Given the description of an element on the screen output the (x, y) to click on. 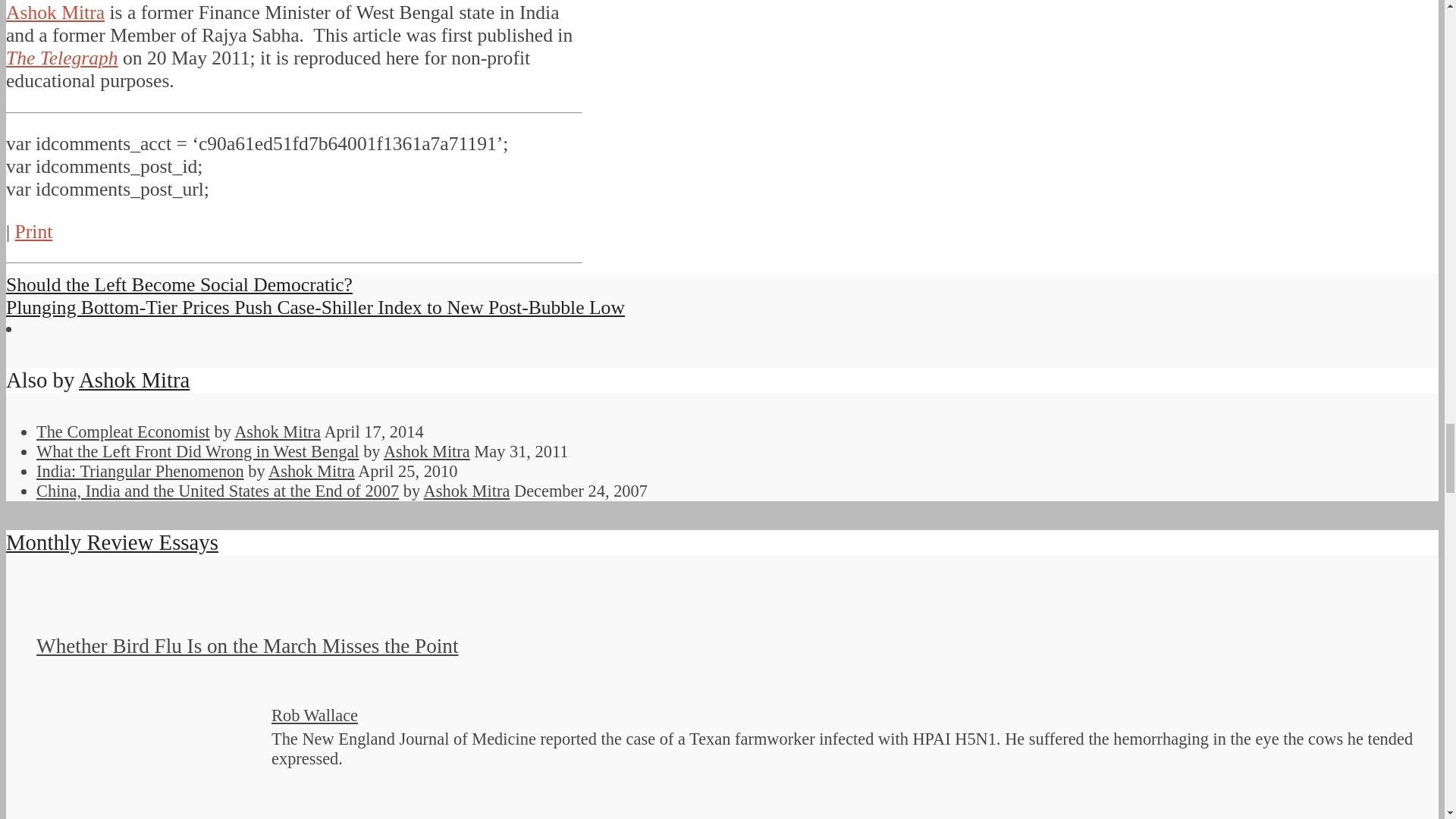
Whether Bird Flu Is on the March Misses the Point (149, 764)
Posts by Rob Wallace (314, 714)
